Given the description of an element on the screen output the (x, y) to click on. 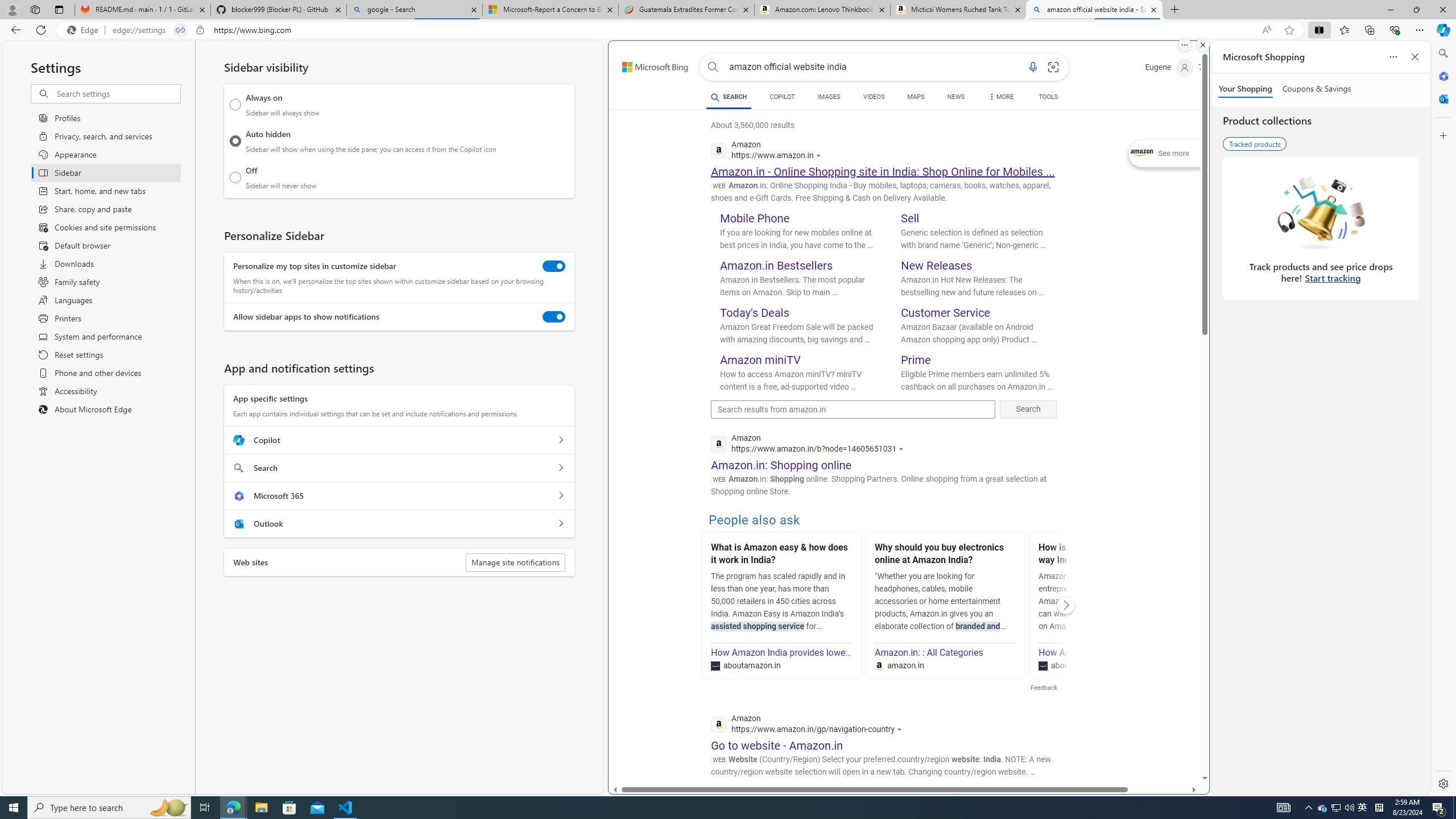
How is Amazon easy changing the way India buys? (1108, 555)
New Releases (936, 265)
Customer Service (945, 312)
Why should you buy electronics online at Amazon India? (945, 555)
Search results from amazon.in (852, 409)
Expand See more (1164, 153)
Amazon (830, 805)
